Given the description of an element on the screen output the (x, y) to click on. 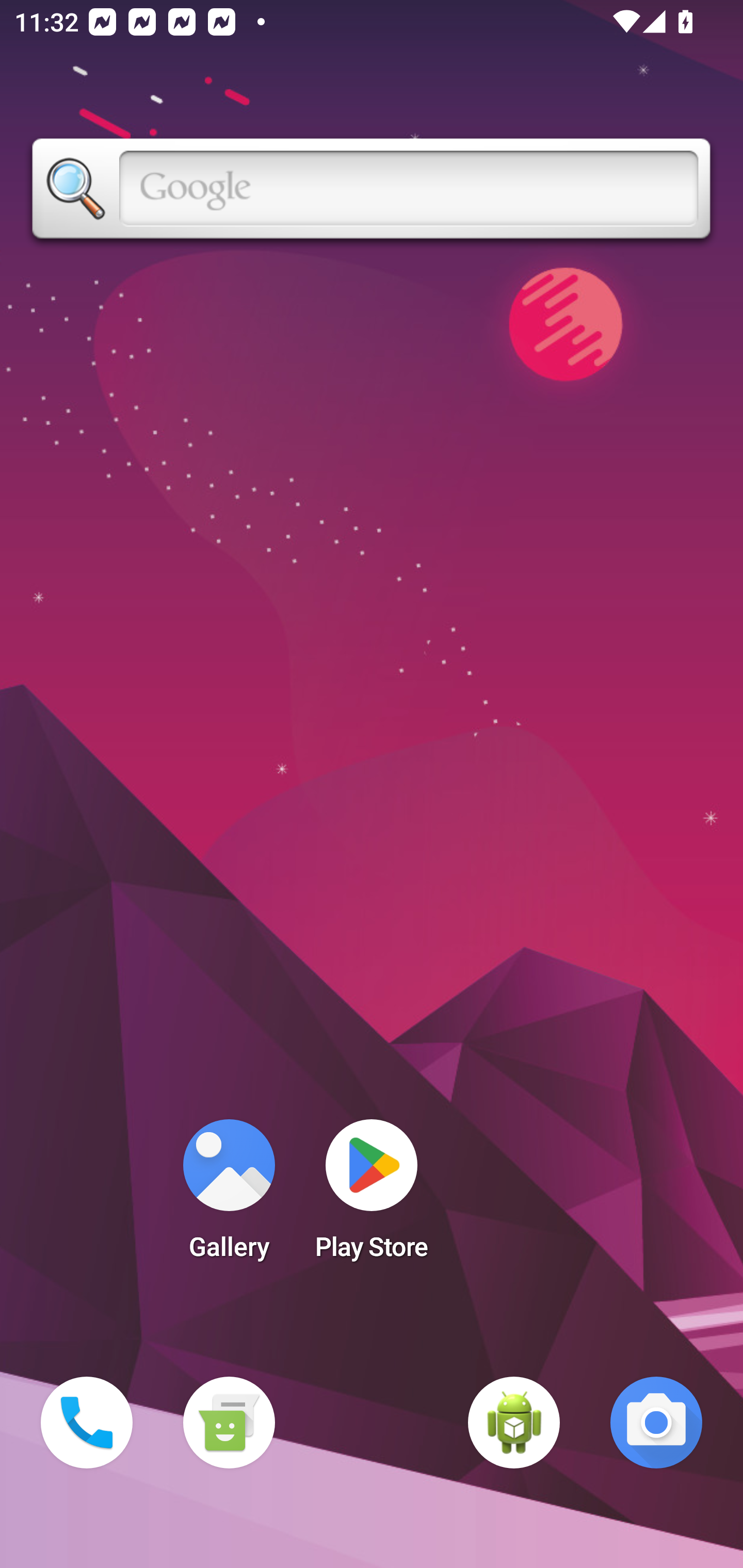
Gallery (228, 1195)
Play Store (371, 1195)
Phone (86, 1422)
Messaging (228, 1422)
WebView Browser Tester (513, 1422)
Camera (656, 1422)
